Given the description of an element on the screen output the (x, y) to click on. 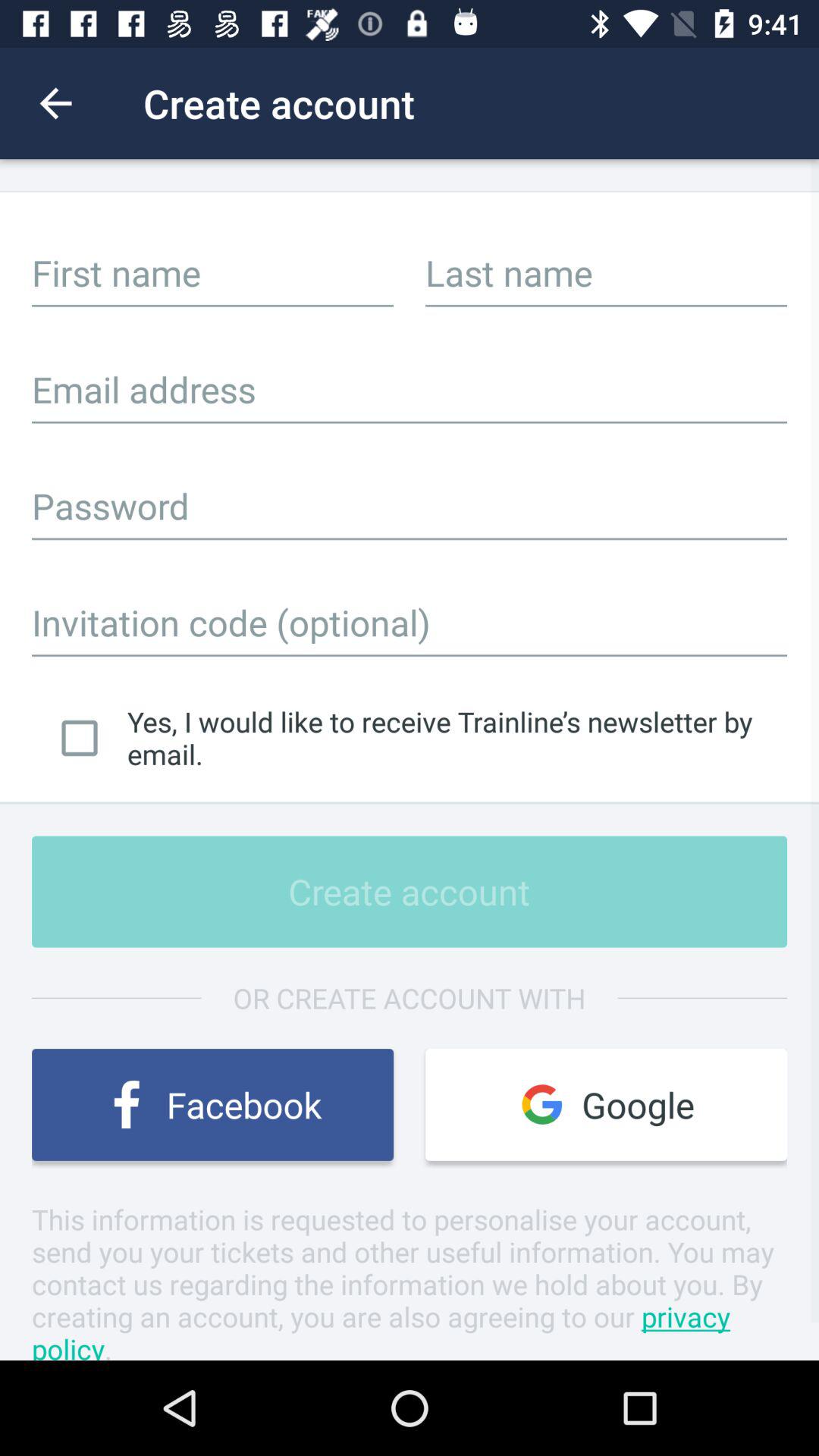
select textbox for password (409, 505)
